Given the description of an element on the screen output the (x, y) to click on. 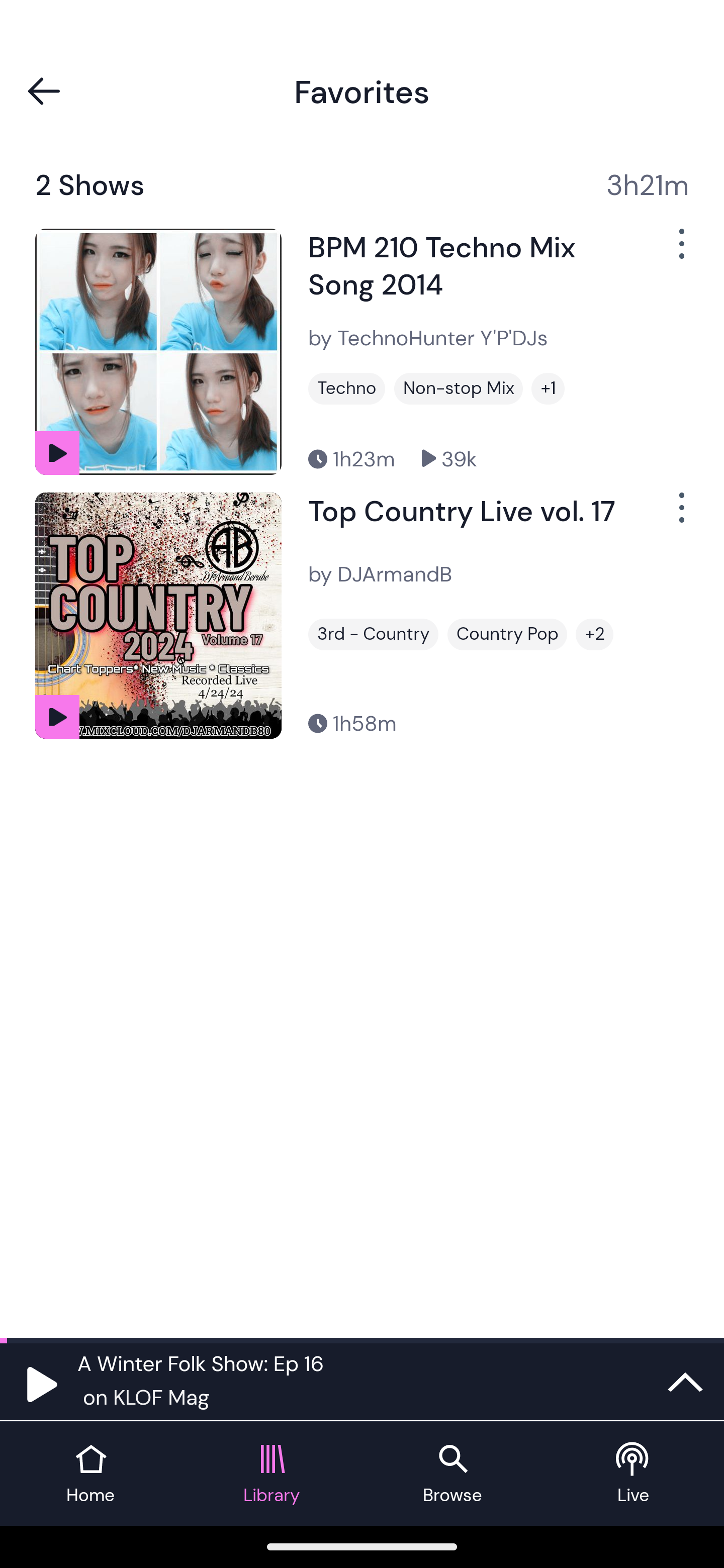
Show Options Menu Button (679, 251)
Techno (346, 388)
Non-stop Mix (457, 388)
Show Options Menu Button (679, 514)
3rd - Country (373, 634)
Country Pop (506, 634)
Home tab Home (90, 1473)
Library tab Library (271, 1473)
Browse tab Browse (452, 1473)
Live tab Live (633, 1473)
